Given the description of an element on the screen output the (x, y) to click on. 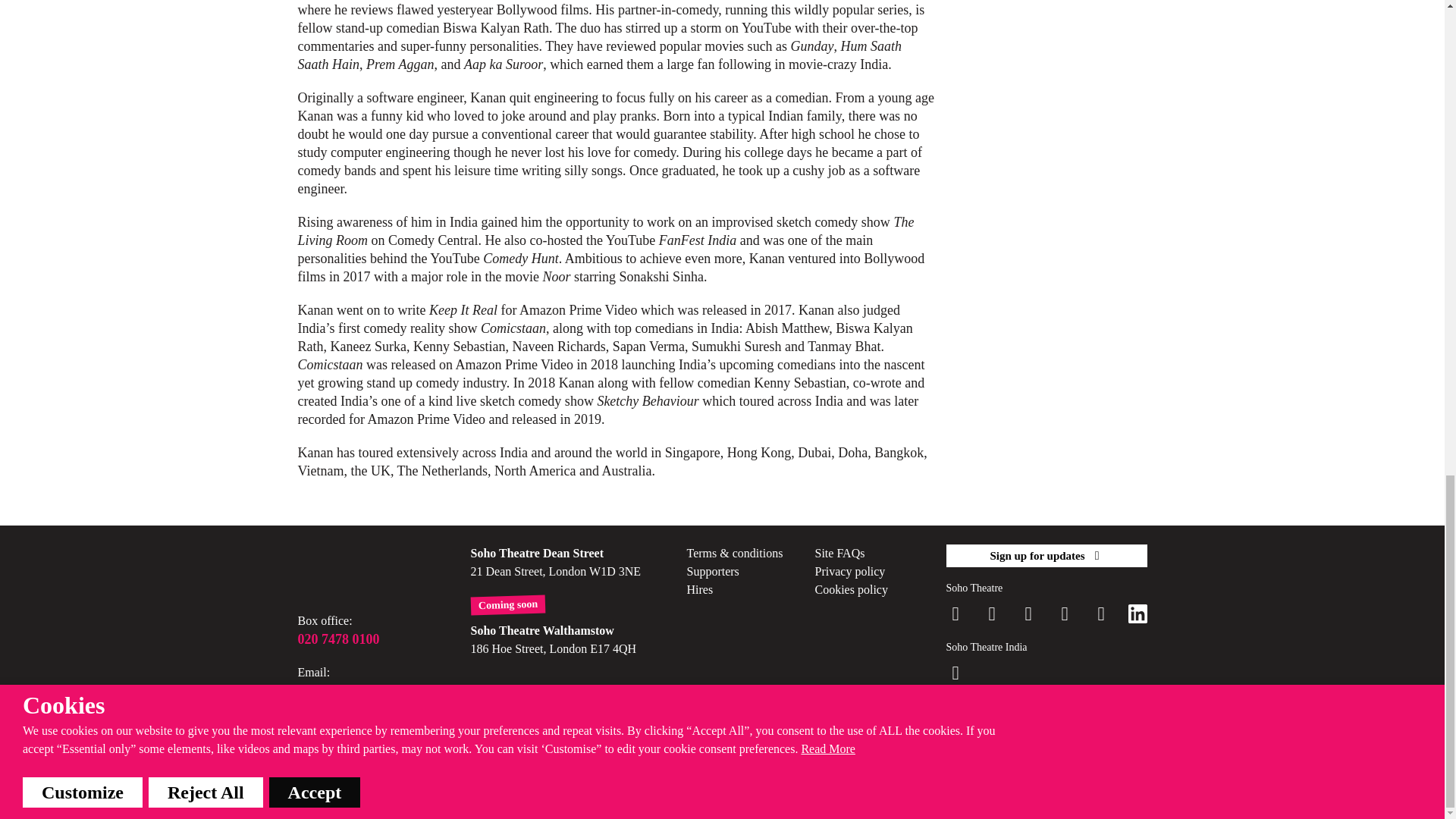
Hires (700, 589)
020 7478 0100 (358, 638)
Supporters (713, 571)
